Given the description of an element on the screen output the (x, y) to click on. 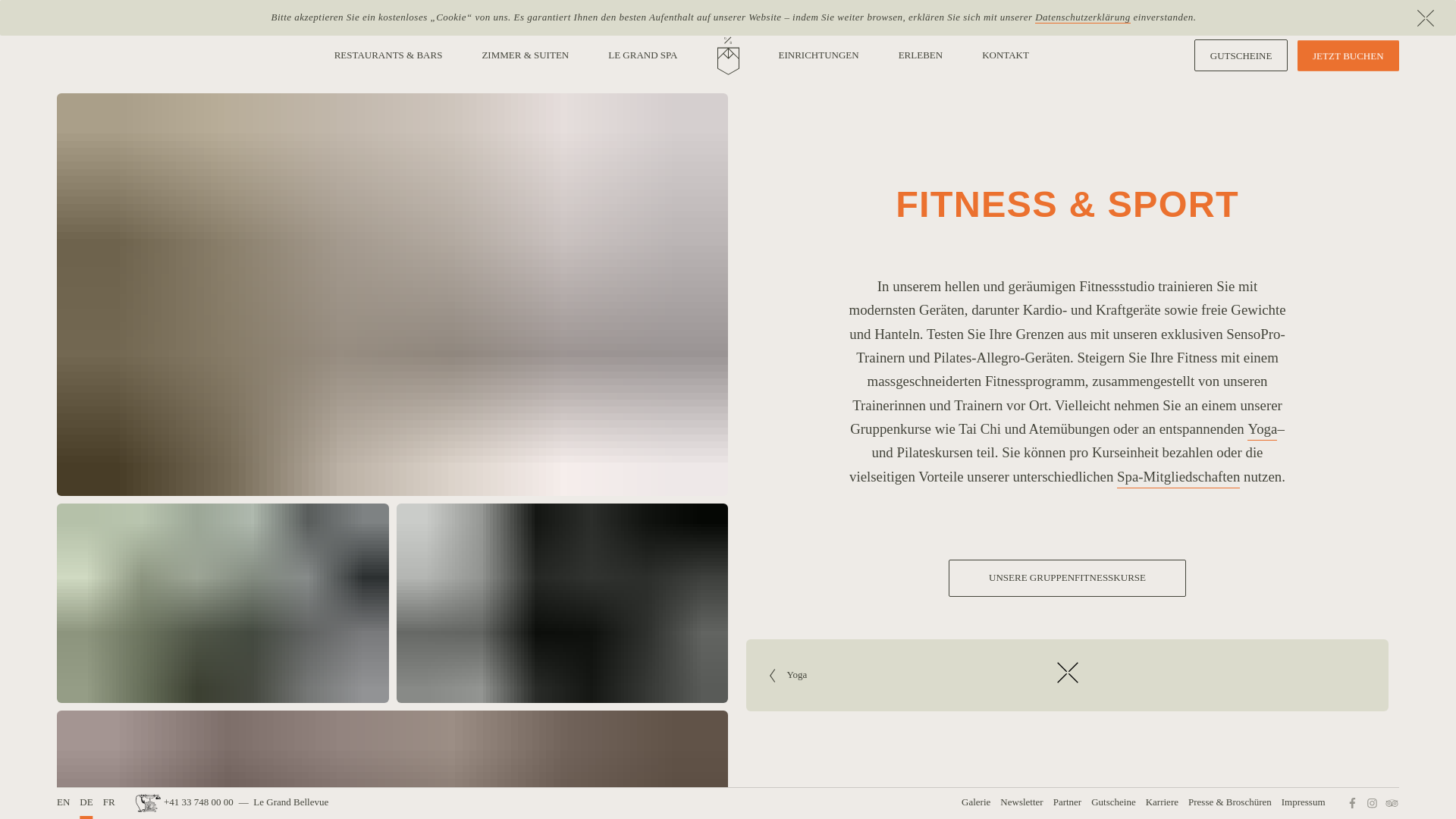
EINRICHTUNGEN Element type: text (818, 55)
LE GRAND SPA Element type: text (642, 55)
Yoga Element type: text (1262, 428)
HOME Element type: text (728, 55)
ERLEBEN Element type: text (920, 55)
KONTAKT Element type: text (1005, 55)
ZIMMER & SUITEN Element type: text (524, 55)
JETZT BUCHEN Element type: text (1348, 55)
RESTAURANTS & BARS Element type: text (388, 55)
UNSERE GRUPPENFITNESSKURSE Element type: text (1067, 577)
Spa-Mitgliedschaften Element type: text (1178, 476)
GUTSCHEINE Element type: text (1241, 55)
+41 33 748 00 00 Element type: text (184, 801)
